Given the description of an element on the screen output the (x, y) to click on. 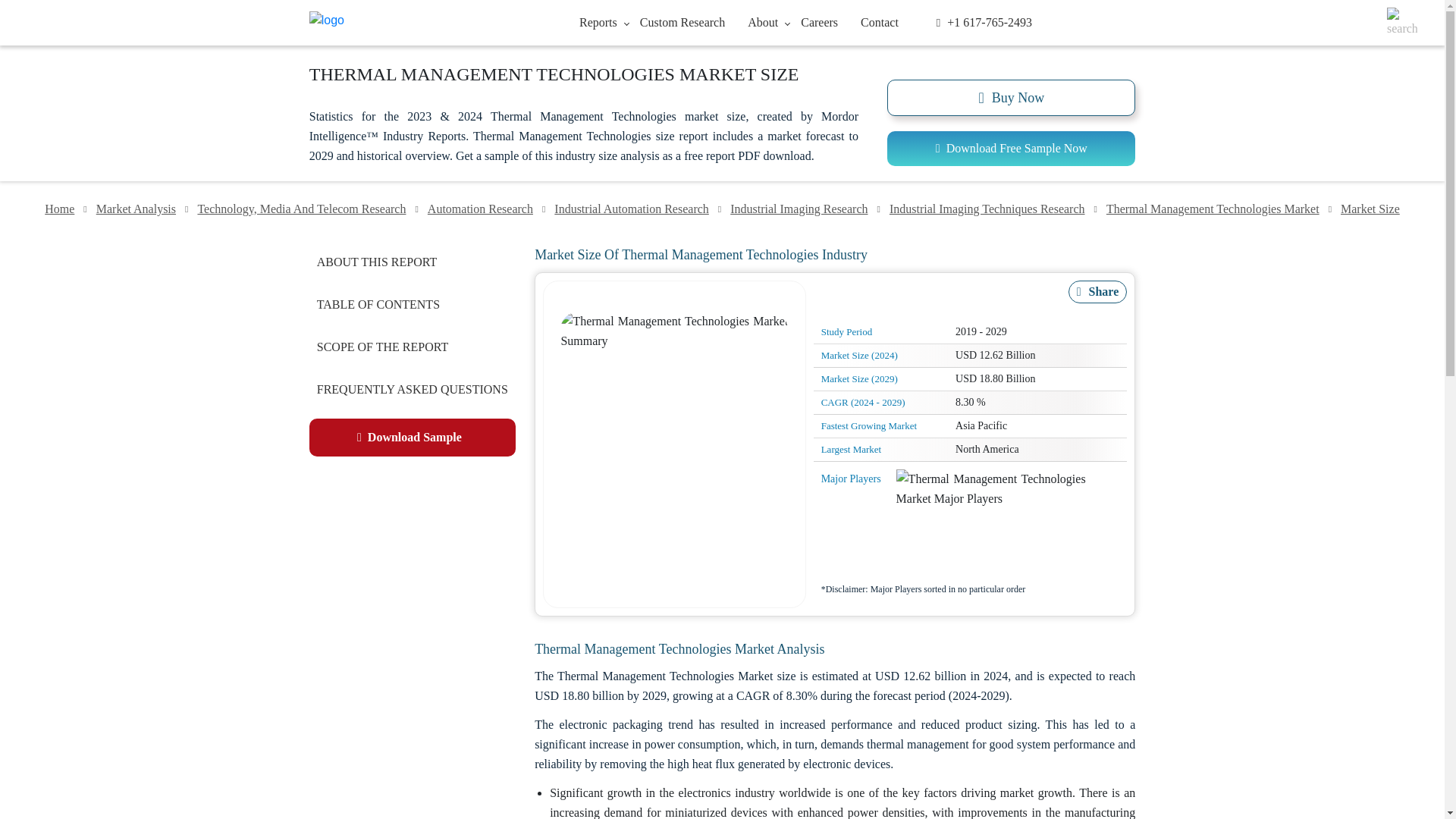
Download Free Sample Now (1010, 148)
About (762, 21)
Go to Mordor's home page (400, 22)
Contact (879, 21)
Automation Research (480, 208)
Industrial Automation Research (631, 208)
Buy Now (1010, 97)
Careers (819, 21)
Technology, Media And Telecom Research (301, 208)
Custom Research (682, 21)
Market Analysis (136, 208)
Industrial Imaging Research (798, 208)
Home (59, 208)
Reports (598, 21)
